Given the description of an element on the screen output the (x, y) to click on. 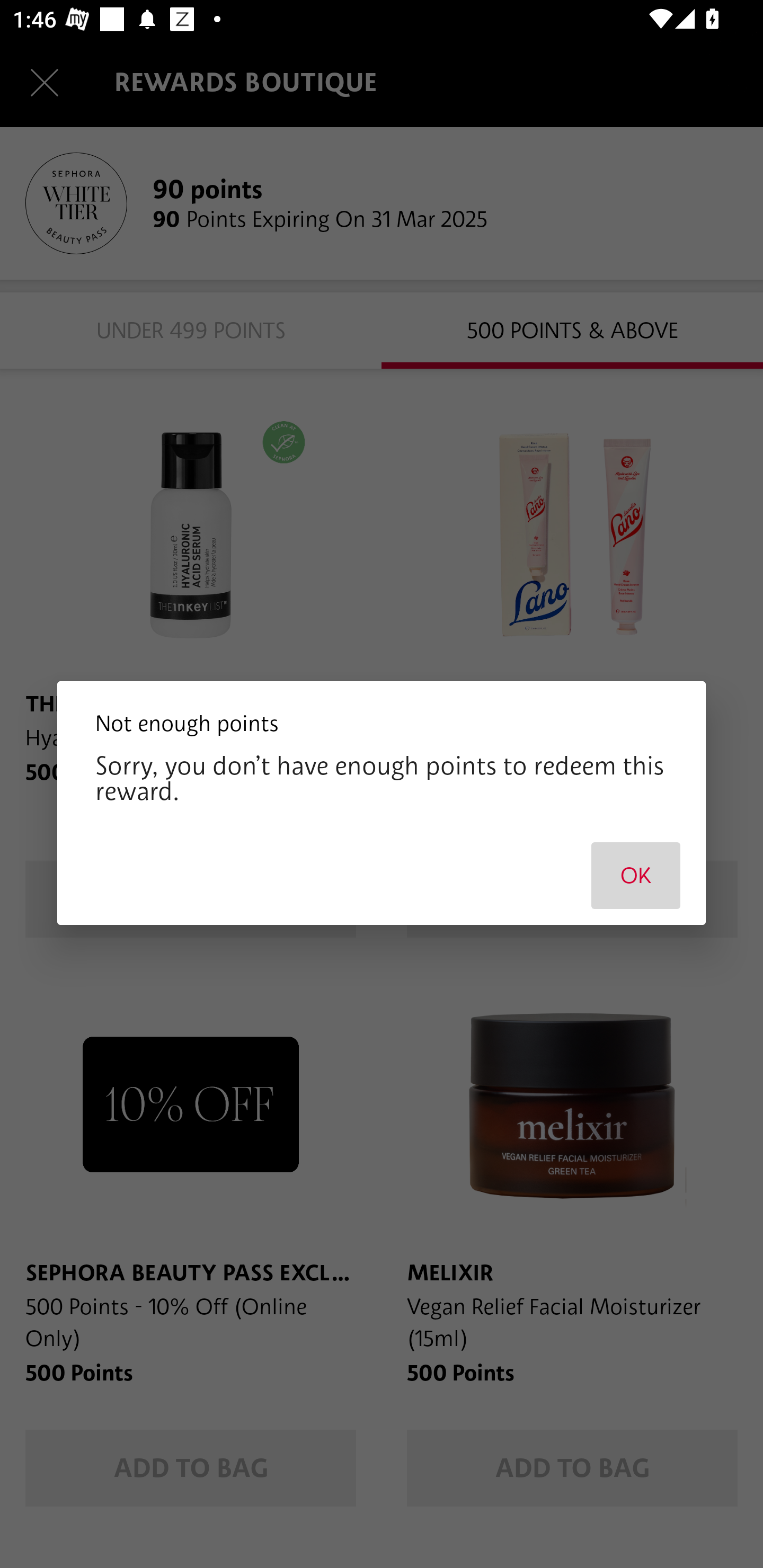
OK (635, 875)
